Given the description of an element on the screen output the (x, y) to click on. 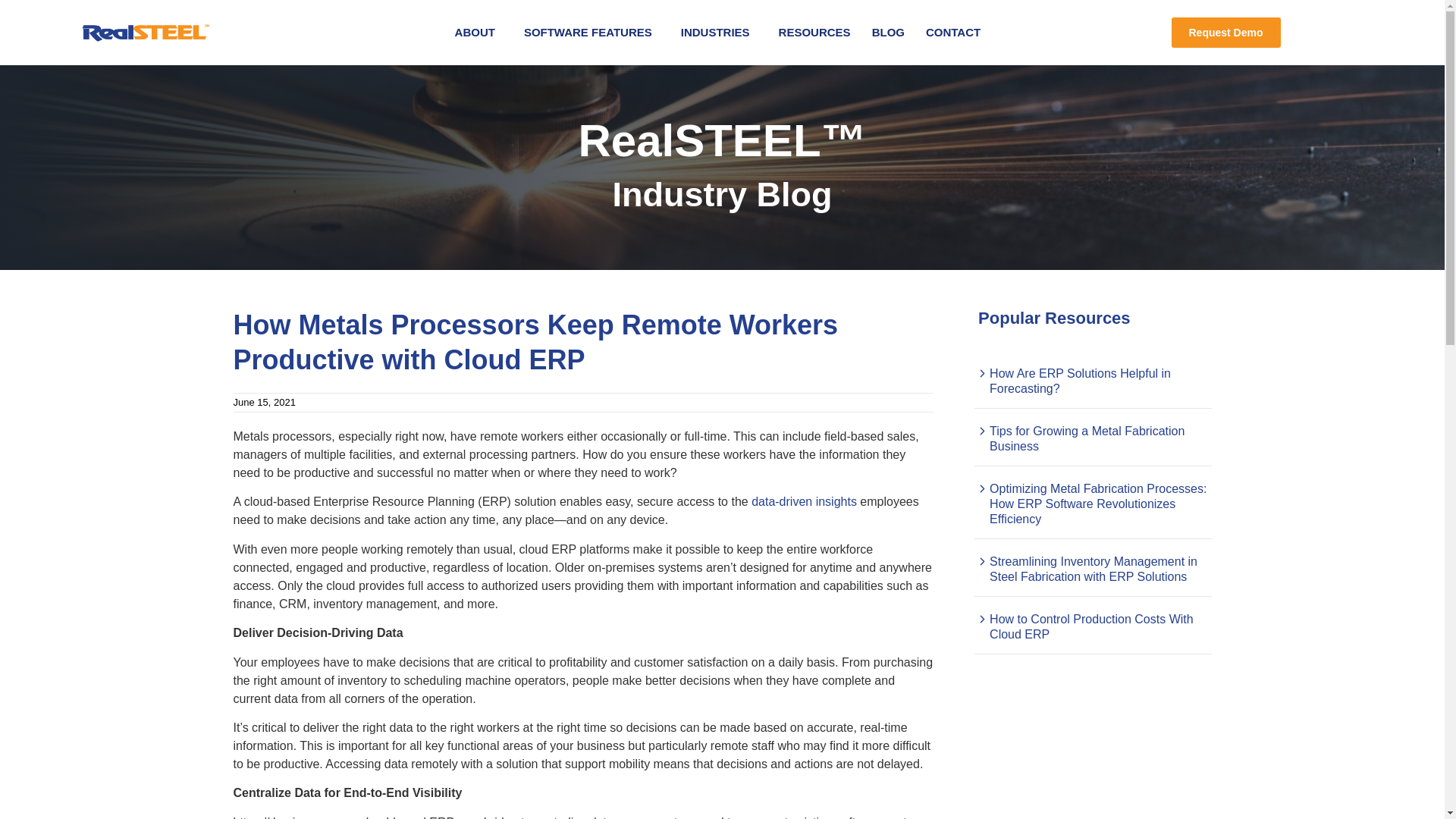
BLOG (888, 32)
SOFTWARE FEATURES (591, 32)
ABOUT (478, 32)
CONTACT (953, 32)
RESOURCES (814, 32)
INDUSTRIES (718, 32)
